Given the description of an element on the screen output the (x, y) to click on. 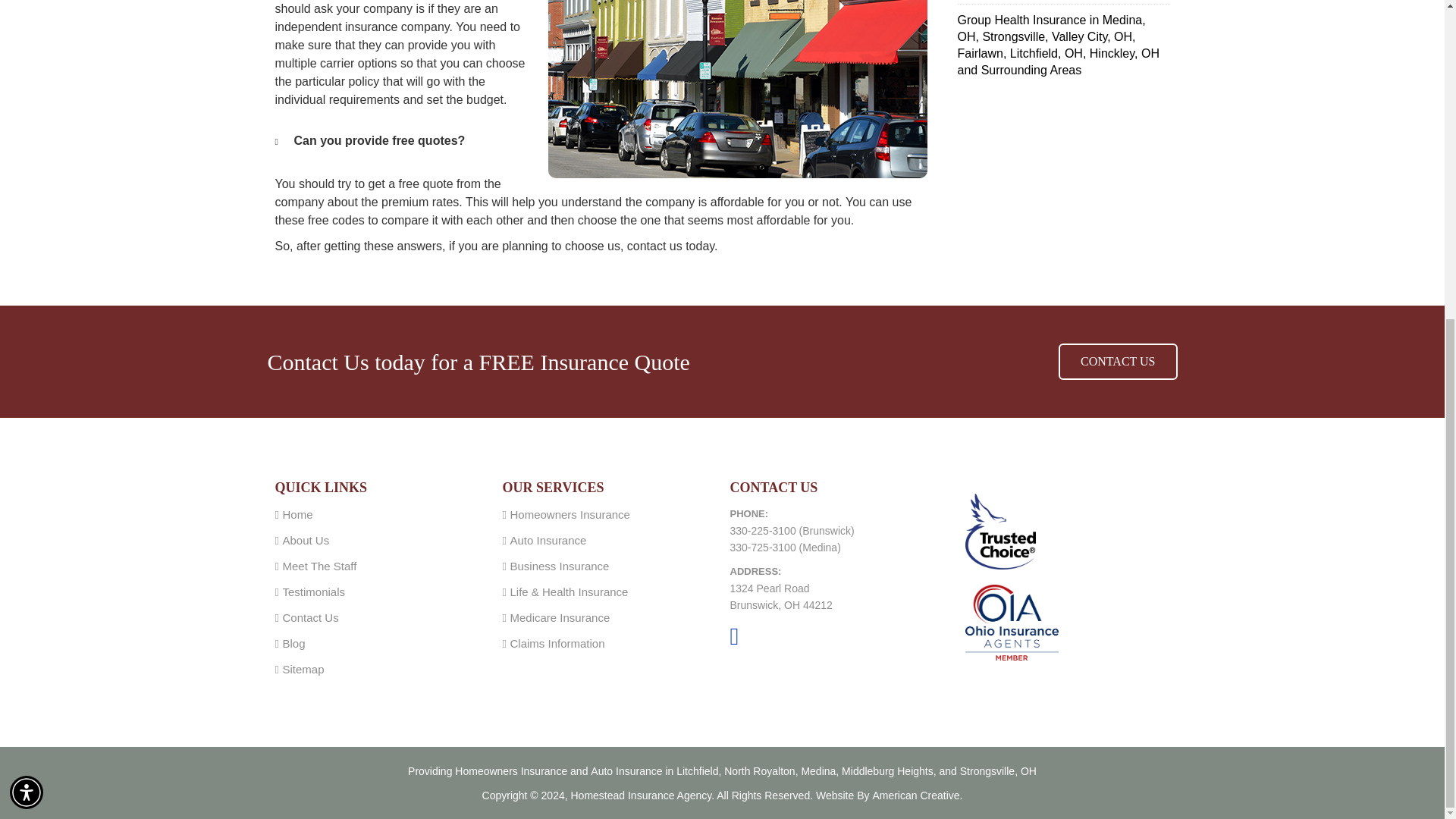
Home (297, 513)
Homeowners Insurance (568, 513)
Sitemap (302, 668)
Facebook (733, 635)
CONTACT US (1117, 361)
Accessibility Menu (26, 275)
Auto Insurance (547, 540)
Business Insurance (558, 565)
Meet The Staff (319, 565)
Claims Information (556, 643)
330-225-3100 (761, 530)
Website Design SEO Nationwide (917, 795)
Medicare Insurance (559, 617)
Testimonials (313, 591)
